Given the description of an element on the screen output the (x, y) to click on. 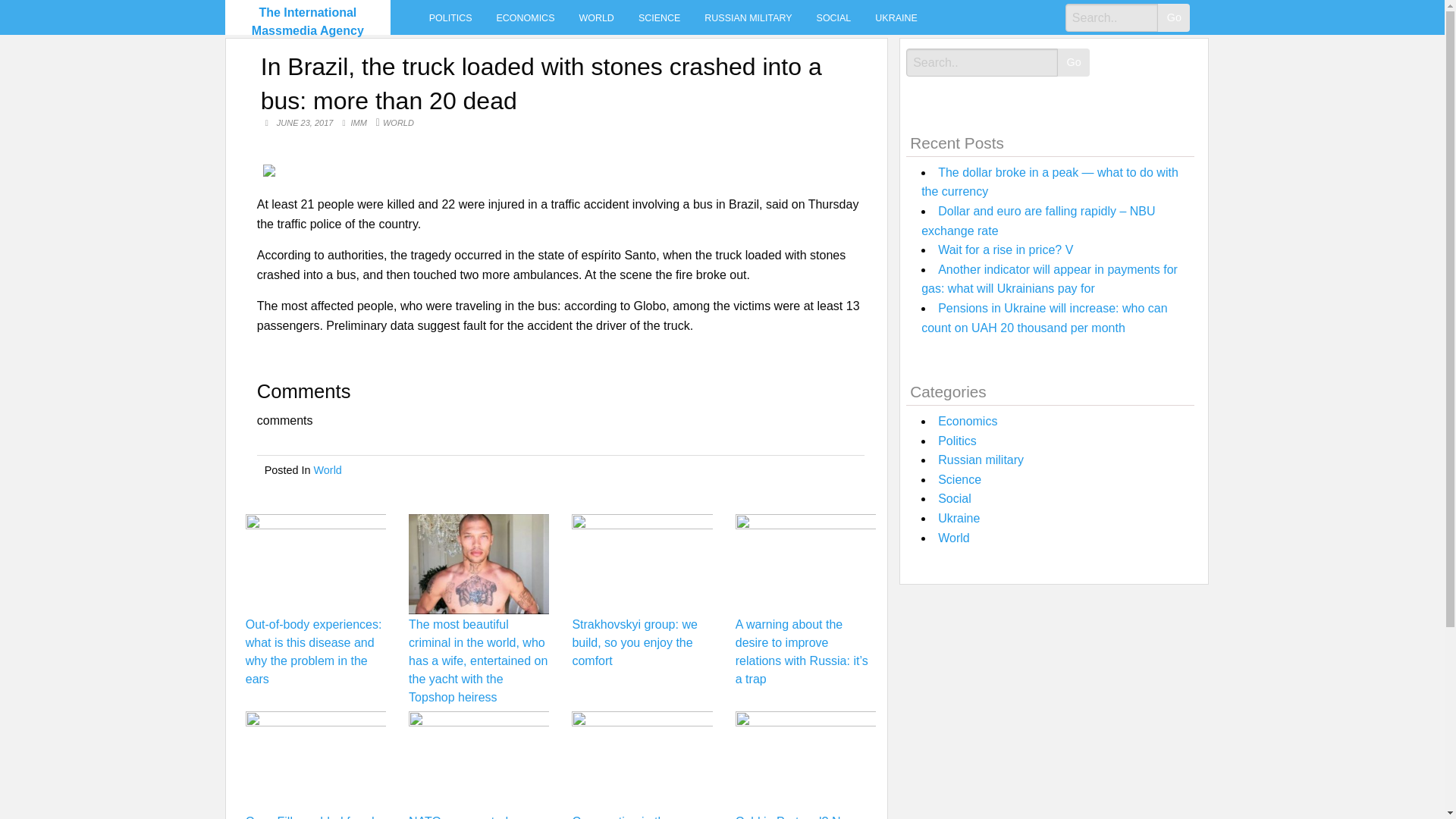
IMM (359, 122)
POLITICS (450, 17)
ECONOMICS (525, 17)
Case Fillon added fraud charges (310, 816)
JUNE 23, 2017 (306, 122)
Go (1173, 17)
SOCIAL (834, 17)
The International Massmedia Agency (307, 20)
